Given the description of an element on the screen output the (x, y) to click on. 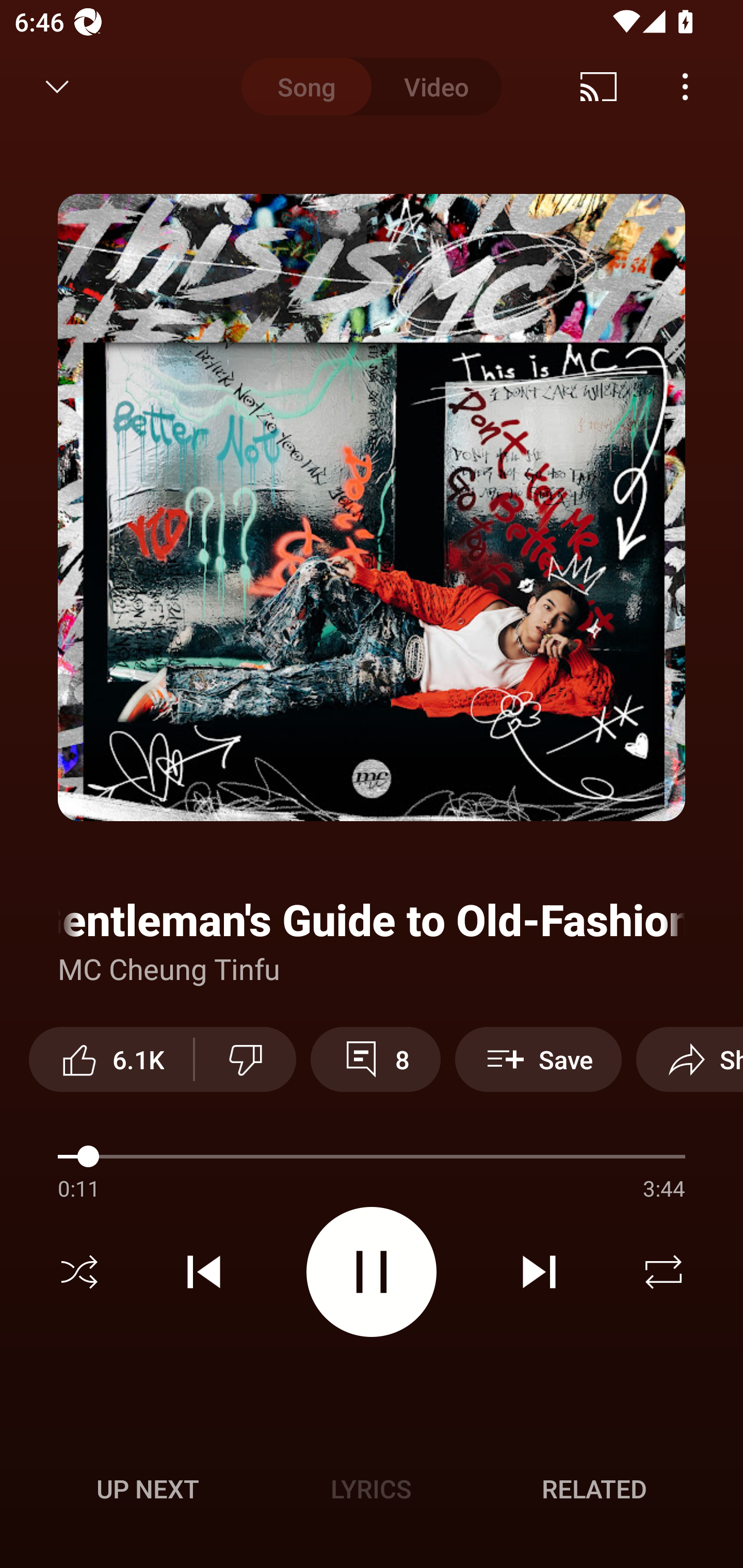
Minimize (57, 86)
Cast. Disconnected (598, 86)
Menu (684, 86)
6.1K like this video along with 6,122 other people (110, 1059)
Dislike (245, 1059)
8 View 8 comments (375, 1059)
Save Save to playlist (537, 1059)
Share (689, 1059)
Pause video (371, 1272)
Shuffle off (79, 1272)
Previous track (203, 1272)
Next track (538, 1272)
Repeat off (663, 1272)
Up next UP NEXT Lyrics LYRICS Related RELATED (371, 1491)
Lyrics LYRICS (370, 1488)
Related RELATED (594, 1488)
